Given the description of an element on the screen output the (x, y) to click on. 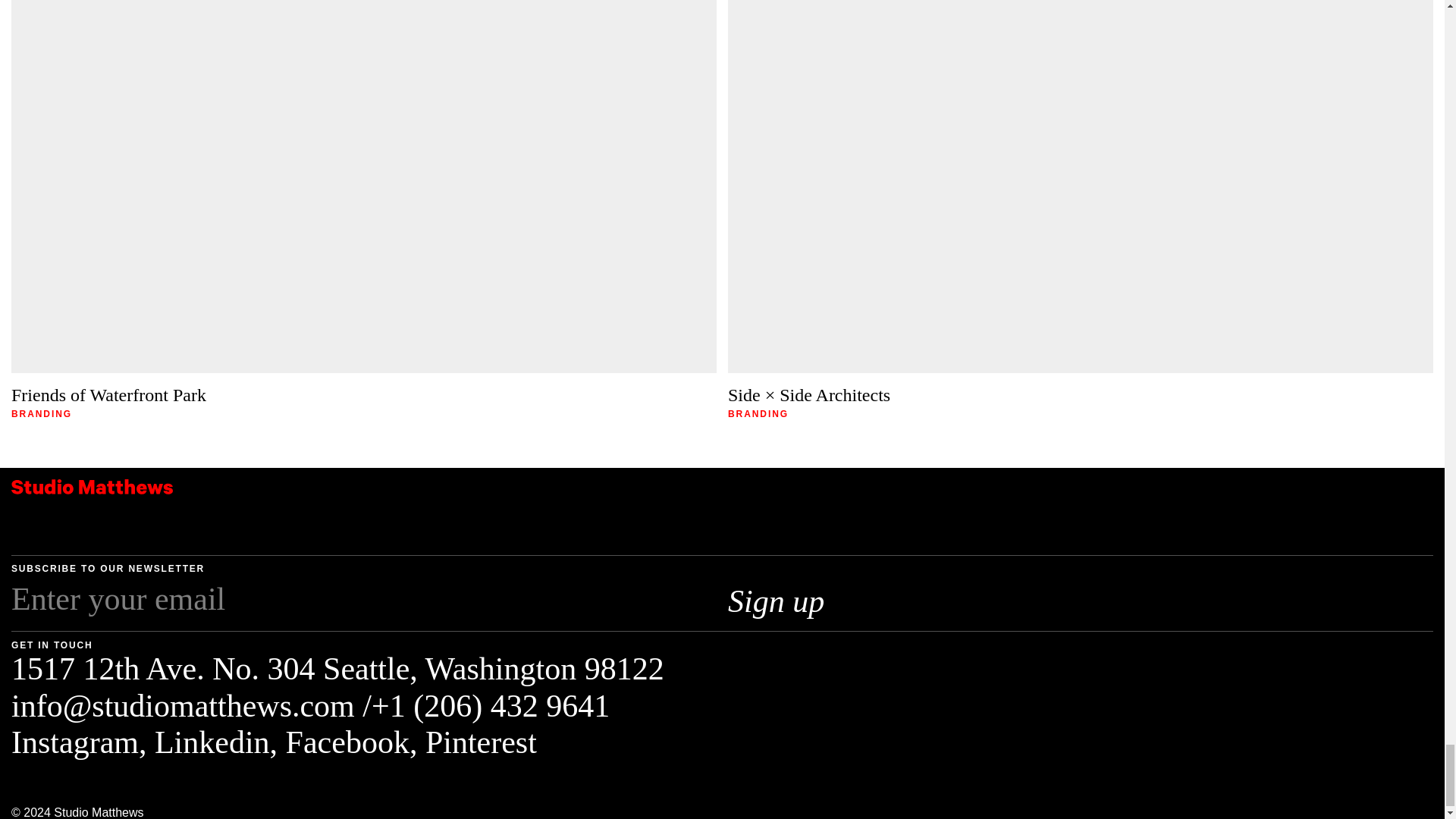
Pinterest (481, 742)
Sign up (800, 601)
Sign up (800, 601)
Linkedin (211, 742)
Facebook (347, 742)
Instagram (74, 742)
BRANDING (758, 414)
BRANDING (41, 414)
